Given the description of an element on the screen output the (x, y) to click on. 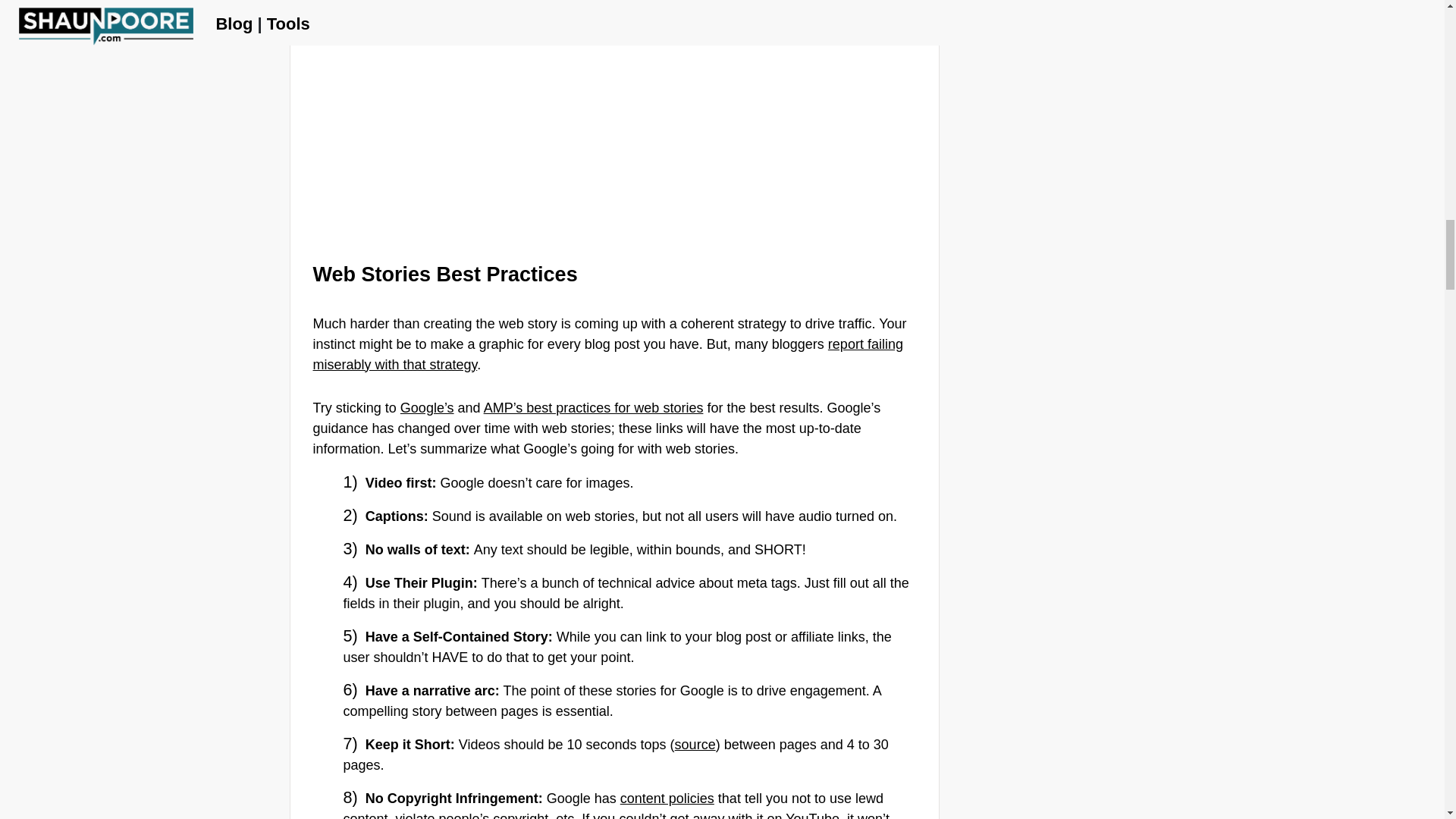
source (695, 744)
report failing miserably with that strategy (607, 354)
content policies (667, 797)
get away with it on YouTube (754, 815)
